Given the description of an element on the screen output the (x, y) to click on. 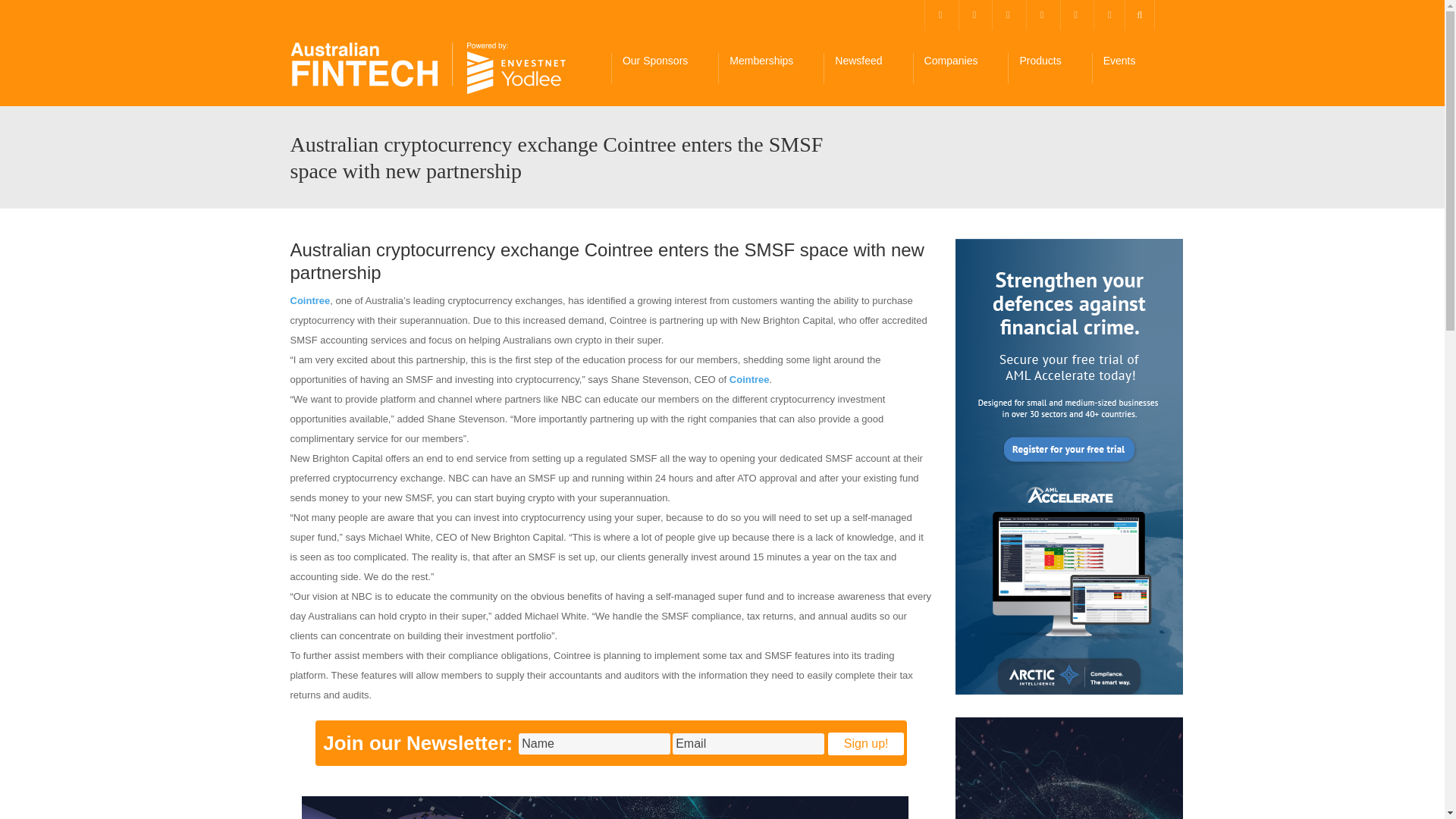
Memberships (770, 68)
Sign up! (866, 743)
Cointree (749, 378)
Our Sponsors (664, 68)
Newsfeed (868, 68)
Sign up! (866, 743)
Companies (960, 68)
Cointree (309, 300)
Events (1129, 68)
